Given the description of an element on the screen output the (x, y) to click on. 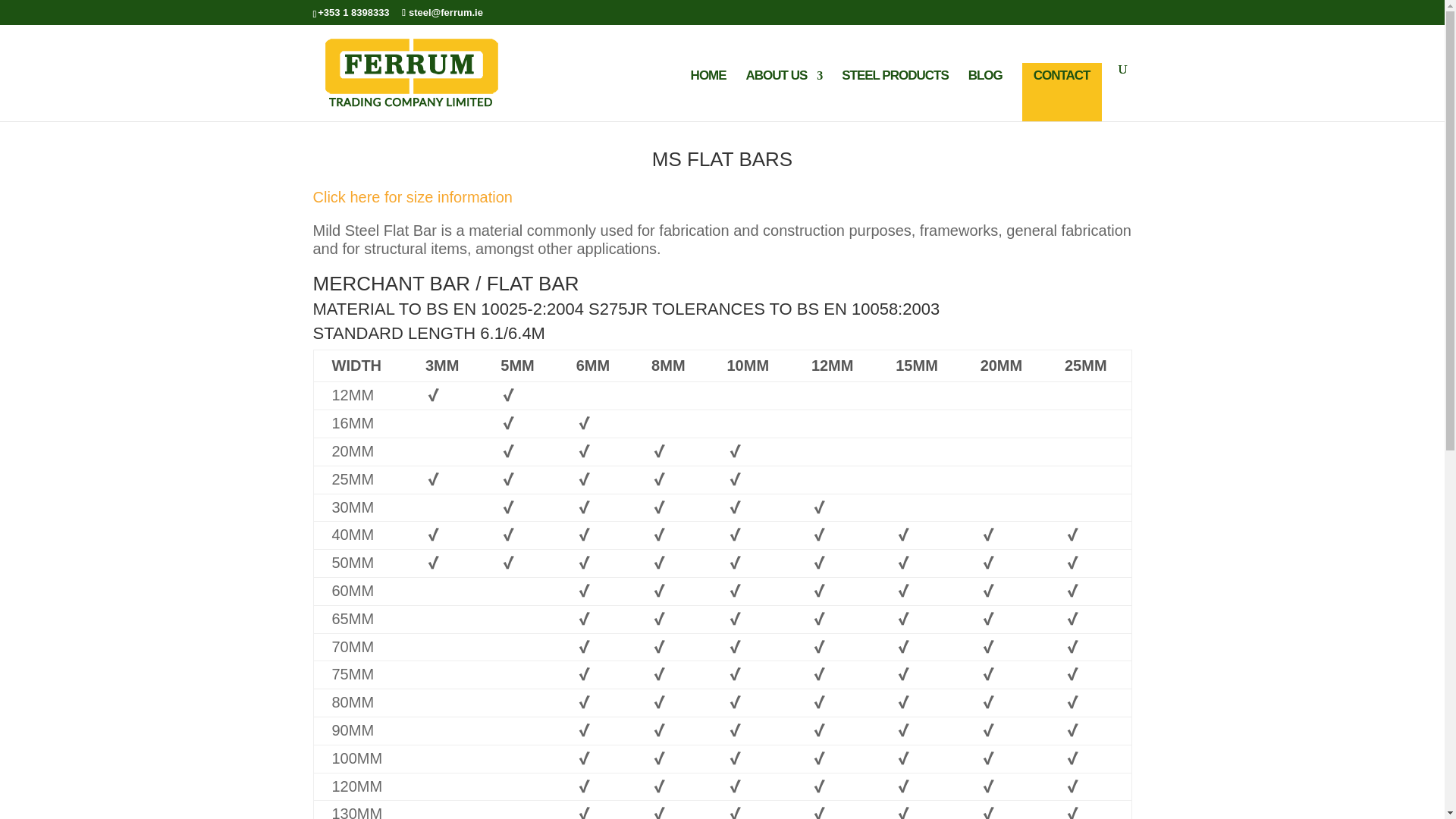
STEEL PRODUCTS (895, 95)
Click here for size information (412, 197)
CONTACT (1062, 92)
ABOUT US (783, 95)
